Given the description of an element on the screen output the (x, y) to click on. 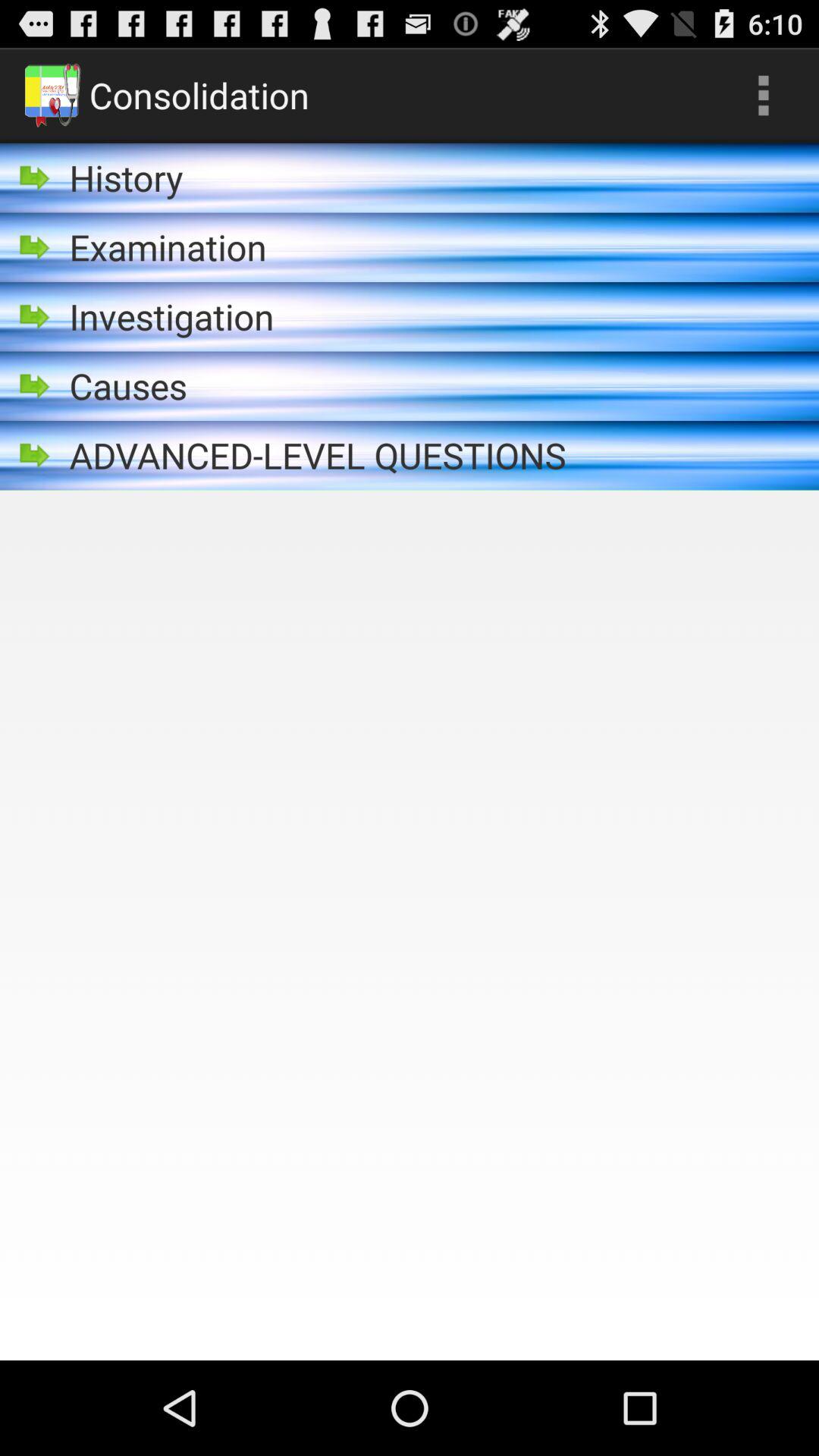
turn off the item to the right of the consolidation item (763, 95)
